Given the description of an element on the screen output the (x, y) to click on. 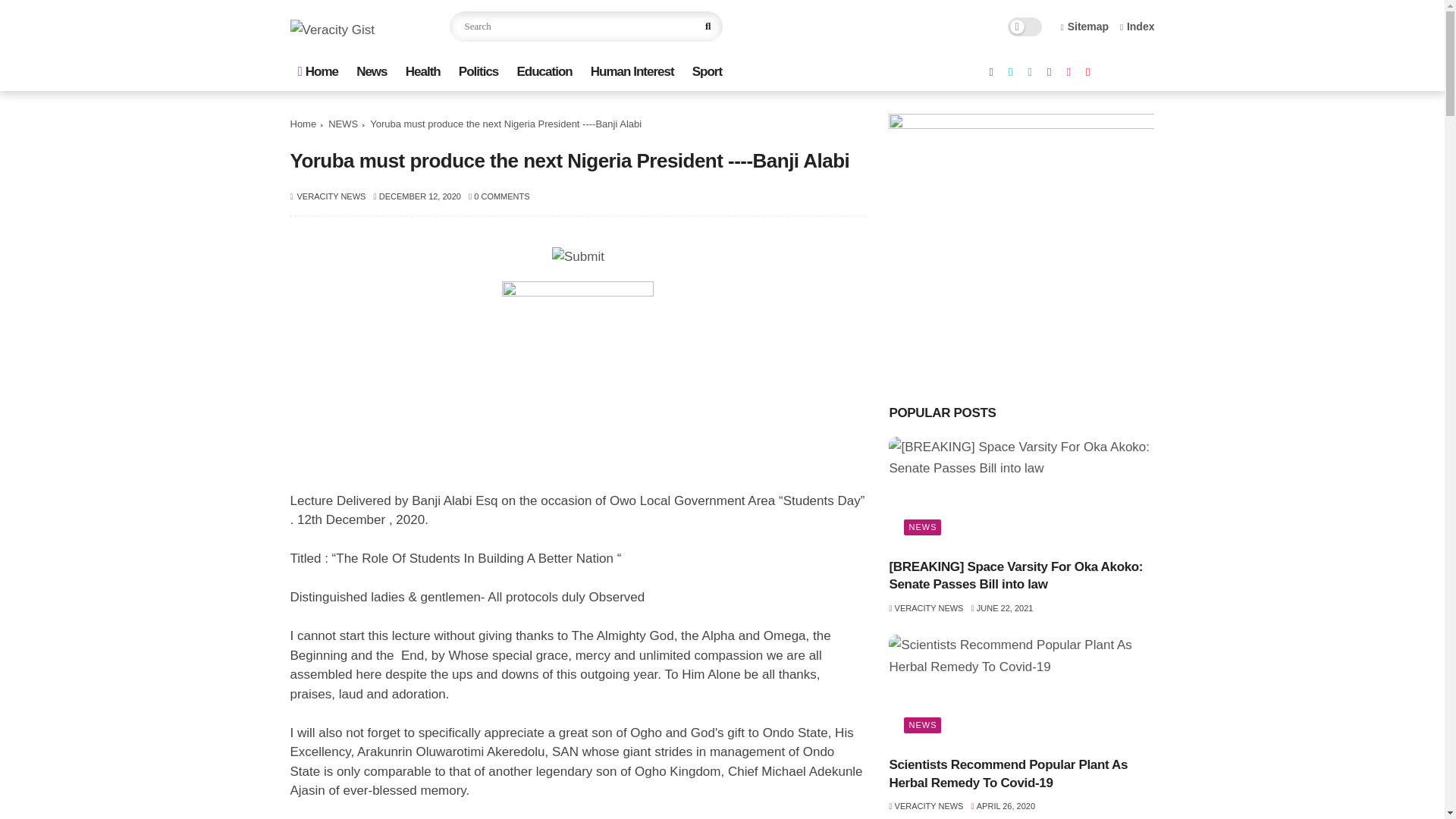
Veracity Gist (331, 30)
Education (544, 71)
Sport (706, 71)
twitter (1010, 72)
News (371, 71)
NEWS (343, 124)
Veracity Gist (331, 29)
Home (302, 124)
Index (1136, 26)
facebook (991, 72)
Politics (478, 71)
whatsapp (1029, 72)
instagram (1068, 72)
Health (422, 71)
youtube (1087, 72)
